Given the description of an element on the screen output the (x, y) to click on. 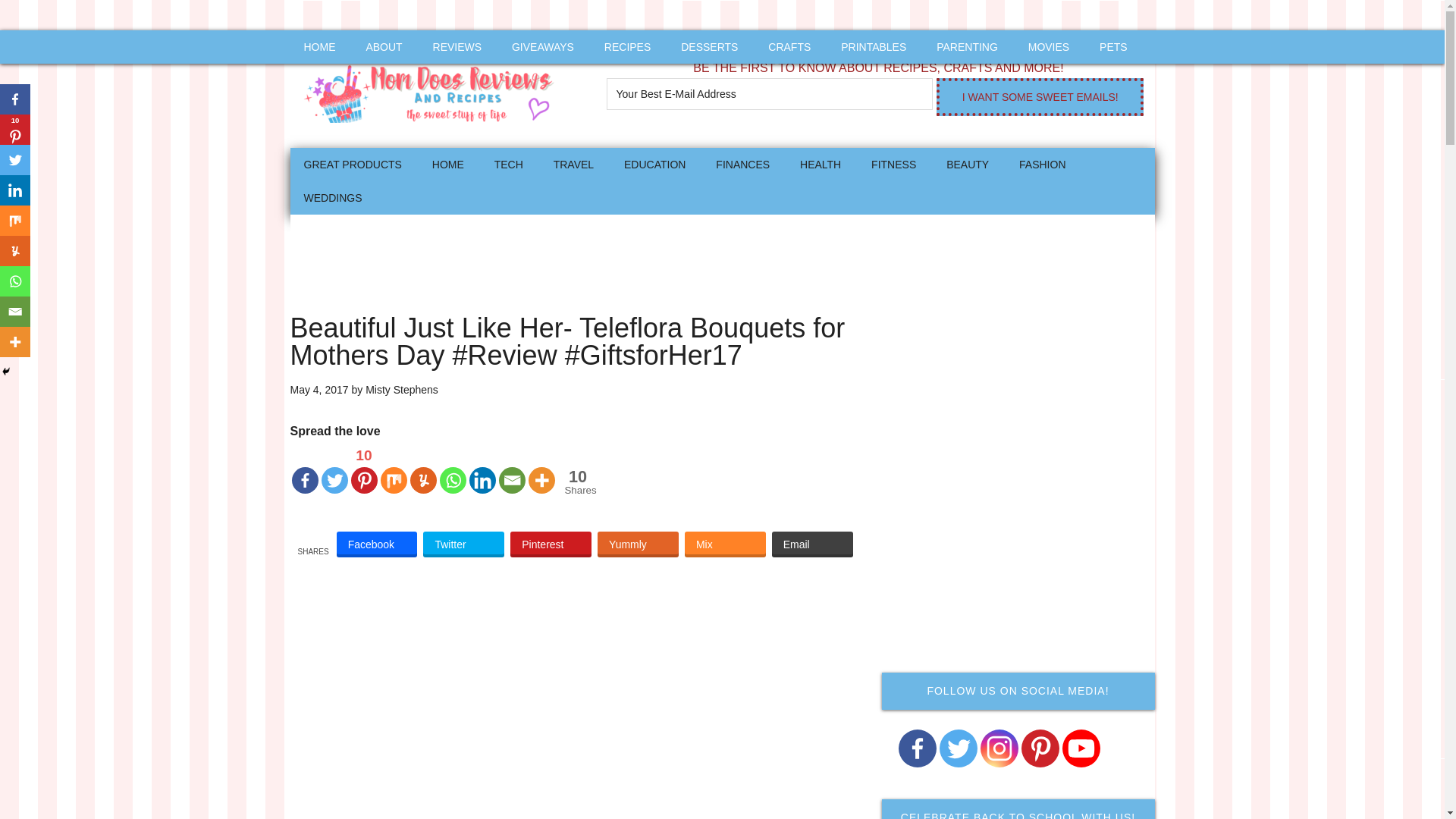
FASHION (1042, 164)
GREAT PRODUCTS (351, 164)
review (457, 46)
DESSERTS (708, 46)
FINANCES (742, 164)
ABOUT (383, 46)
Share on Facebook (376, 544)
Facebook (376, 544)
EDUCATION (654, 164)
BEAUTY (968, 164)
Total Shares (577, 481)
FITNESS (893, 164)
PARENTING (967, 46)
Misty Stephens (401, 389)
REVIEWS (457, 46)
